Given the description of an element on the screen output the (x, y) to click on. 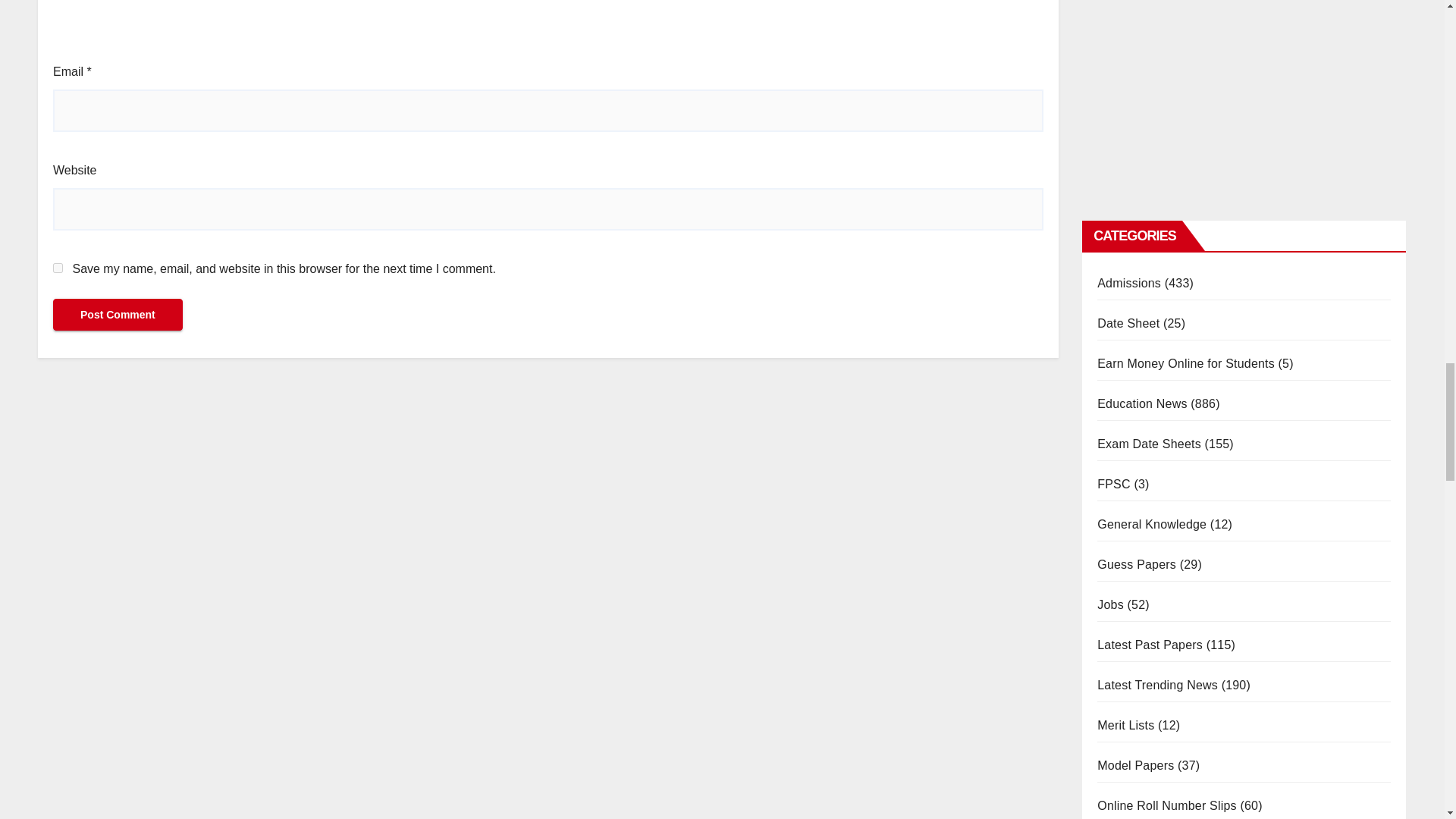
yes (57, 267)
Advertisement (548, 30)
Post Comment (117, 314)
